Given the description of an element on the screen output the (x, y) to click on. 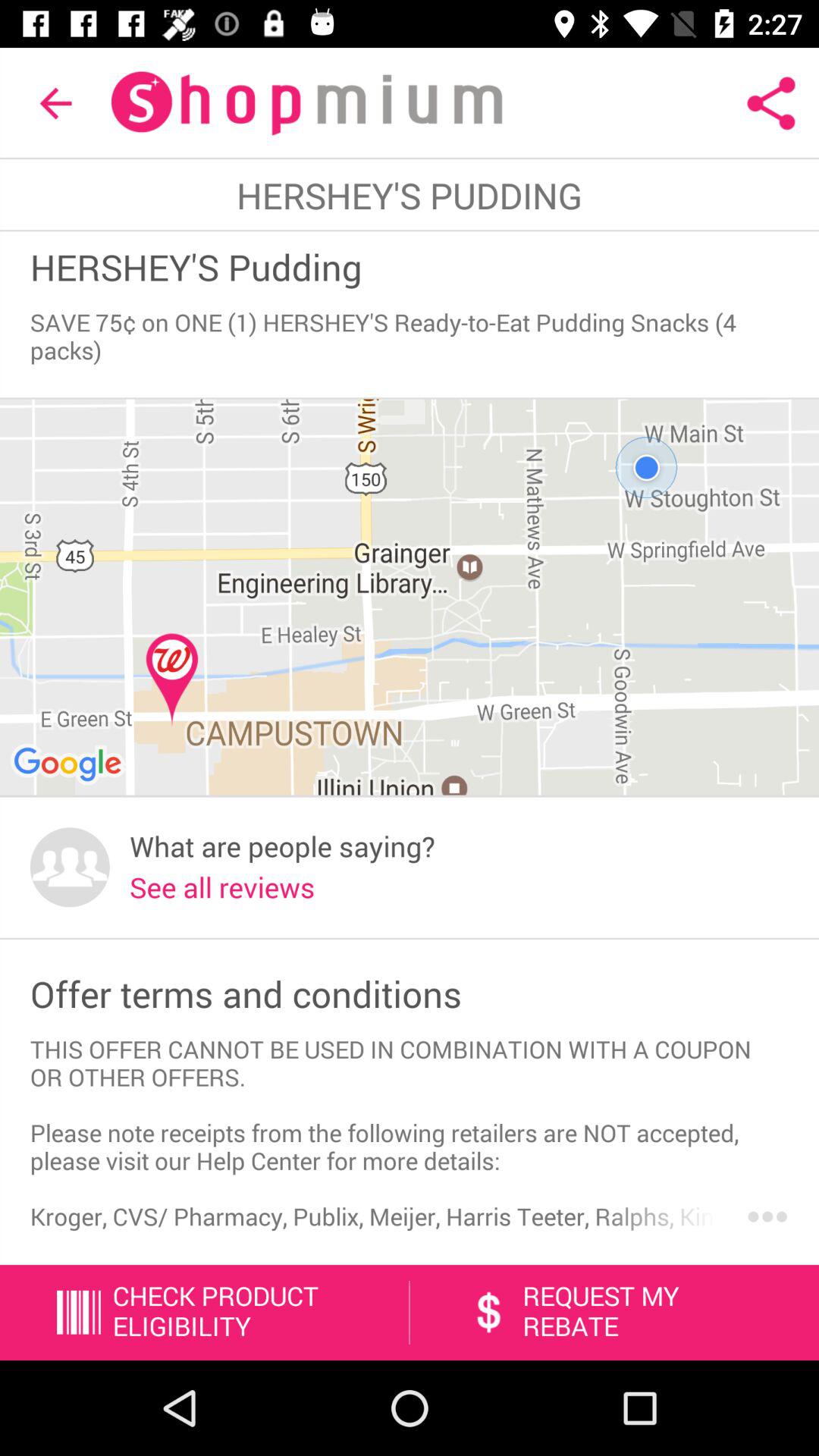
launch icon at the top right corner (771, 103)
